Given the description of an element on the screen output the (x, y) to click on. 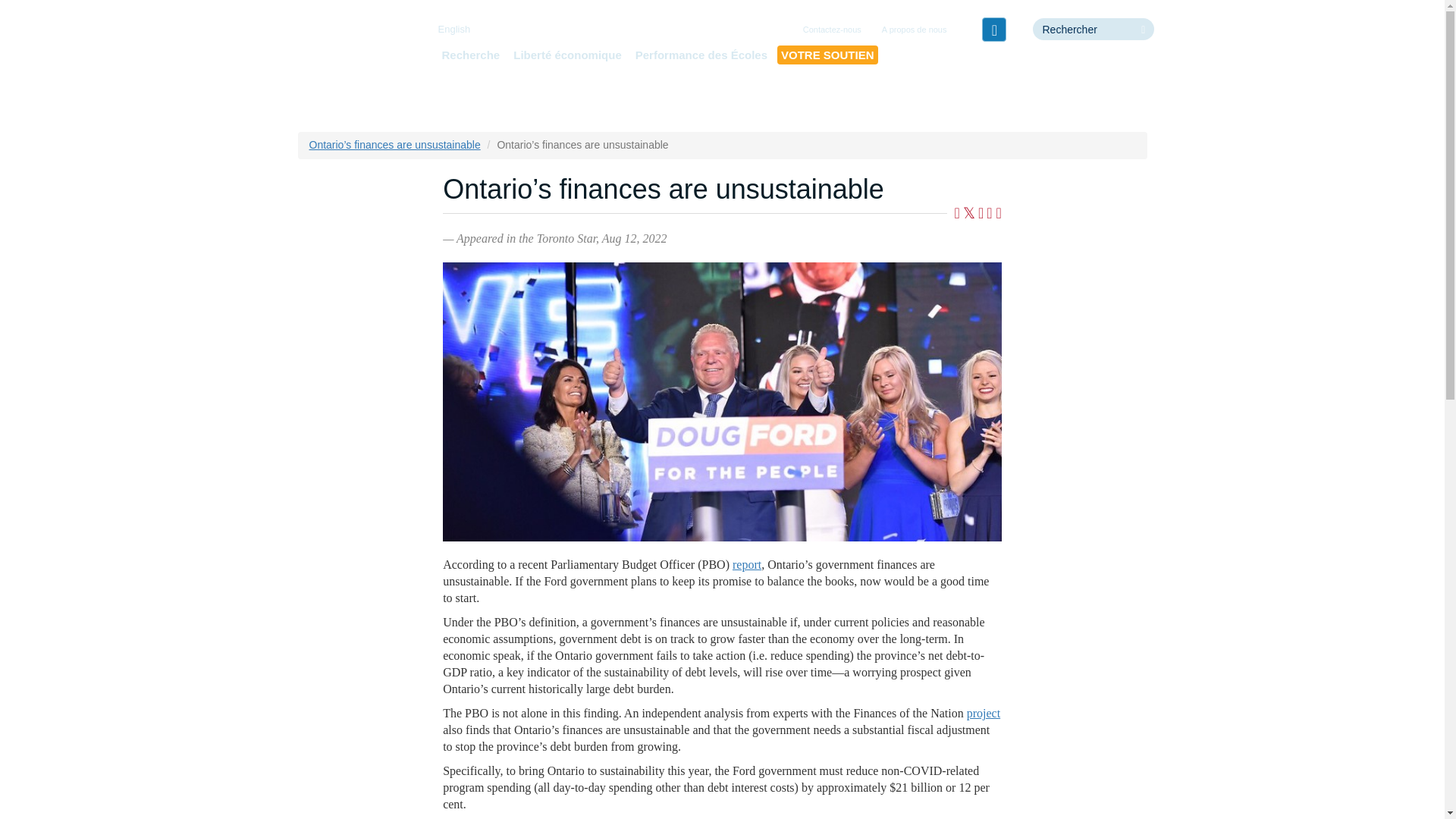
VOTRE SOUTIEN (827, 54)
Accueil (352, 56)
Facebook (993, 29)
project (983, 712)
Contactez-nous (831, 30)
Recherche (470, 54)
English (454, 29)
report (746, 563)
